Given the description of an element on the screen output the (x, y) to click on. 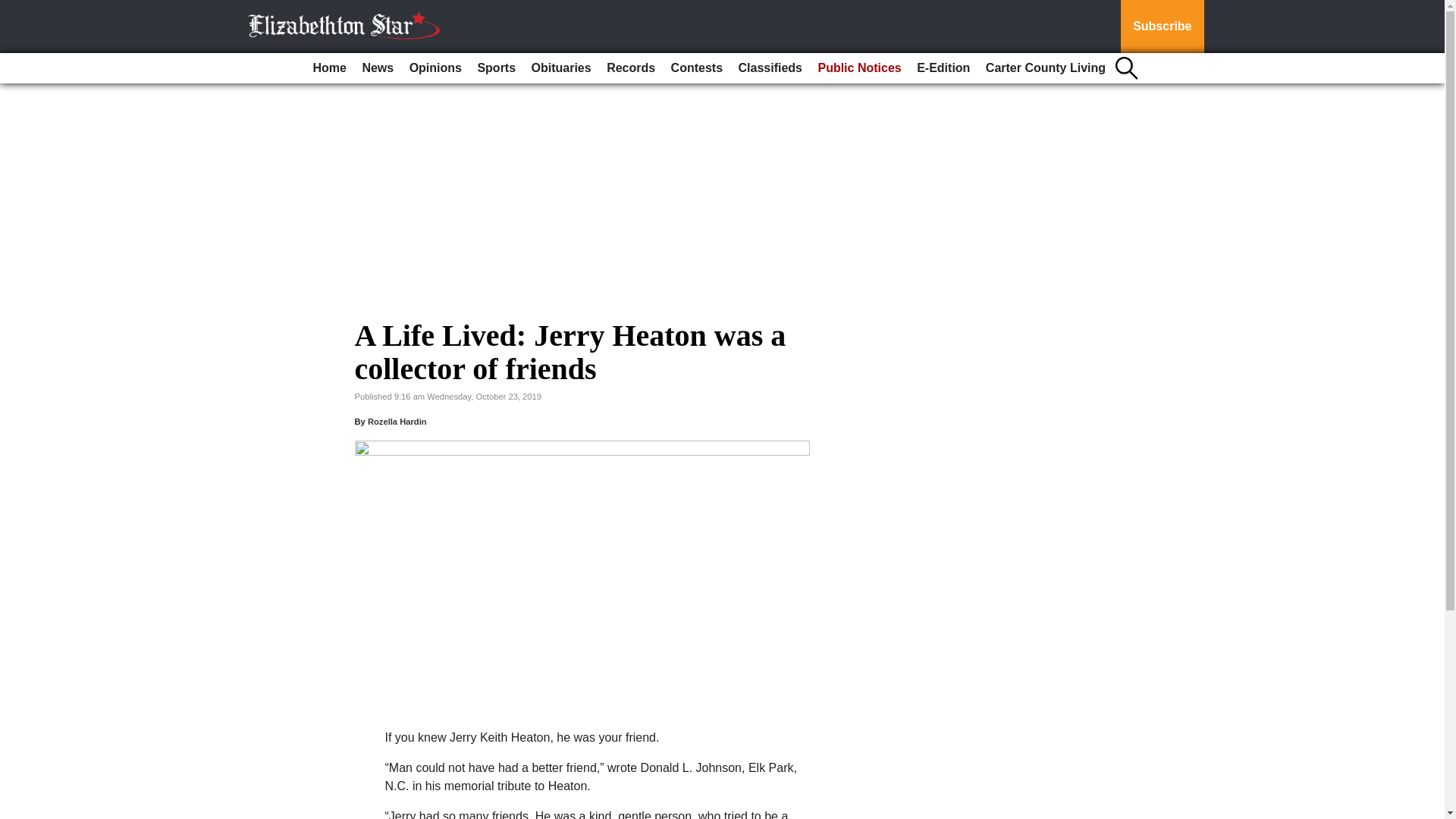
Classifieds (770, 68)
Home (328, 68)
Sports (495, 68)
Subscribe (1162, 26)
Public Notices (858, 68)
E-Edition (943, 68)
Records (630, 68)
Rozella Hardin (397, 420)
Contests (697, 68)
Go (13, 9)
News (376, 68)
Obituaries (560, 68)
Carter County Living (1045, 68)
Opinions (435, 68)
